Given the description of an element on the screen output the (x, y) to click on. 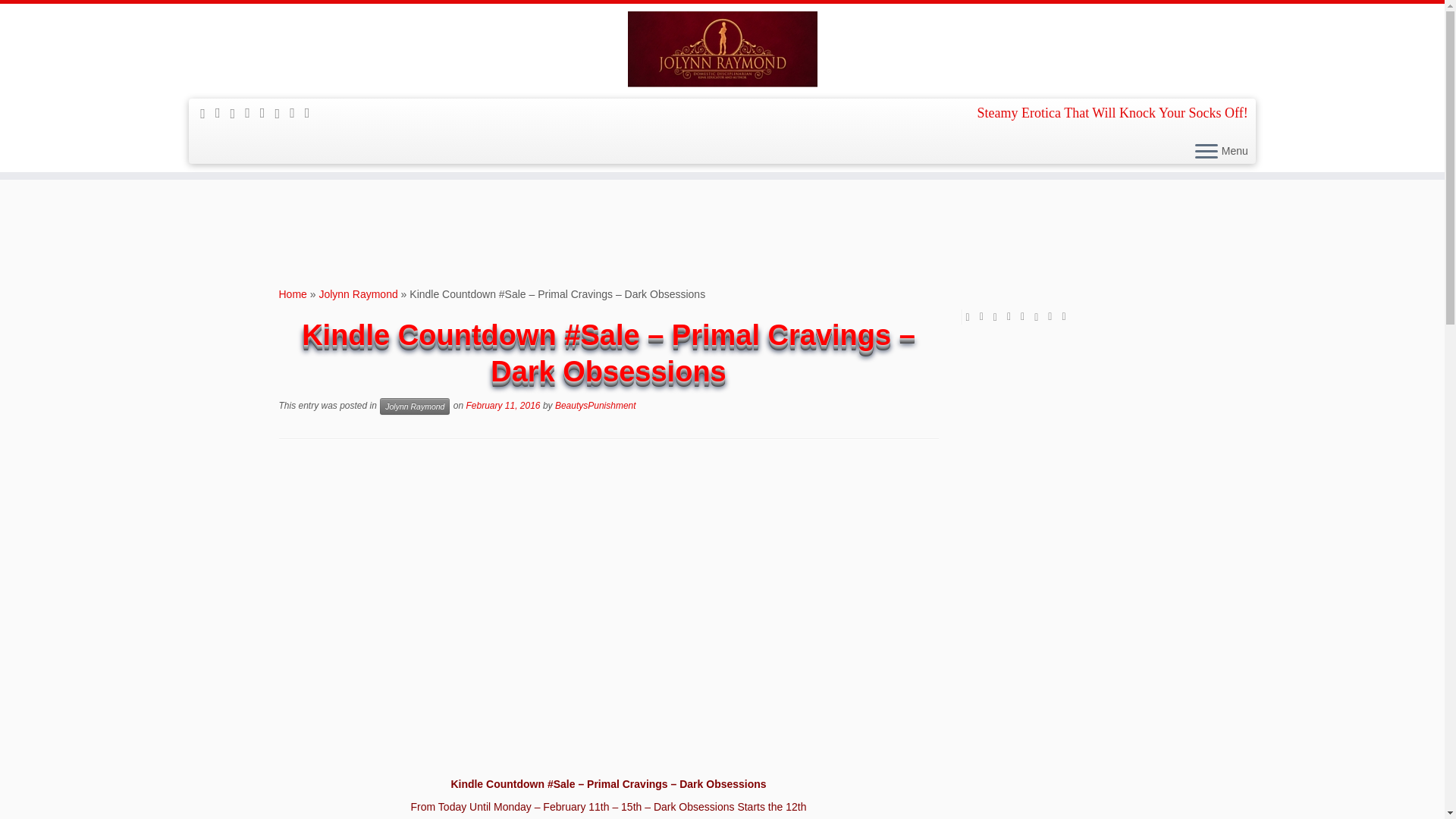
BeautysPunishment (595, 405)
Follow me on Instagram (282, 113)
Home (293, 294)
Open the menu (1206, 151)
Follow me on Facebook (252, 112)
Pin me on Pinterest (312, 112)
Jolynn Raymond (414, 406)
Jolynn Raymond (357, 294)
E-mail (222, 112)
Subscribe to my rss feed (207, 113)
February 11, 2016 (502, 405)
Follow me on Twitter (238, 113)
Follow me on Tumblr (296, 112)
